Given the description of an element on the screen output the (x, y) to click on. 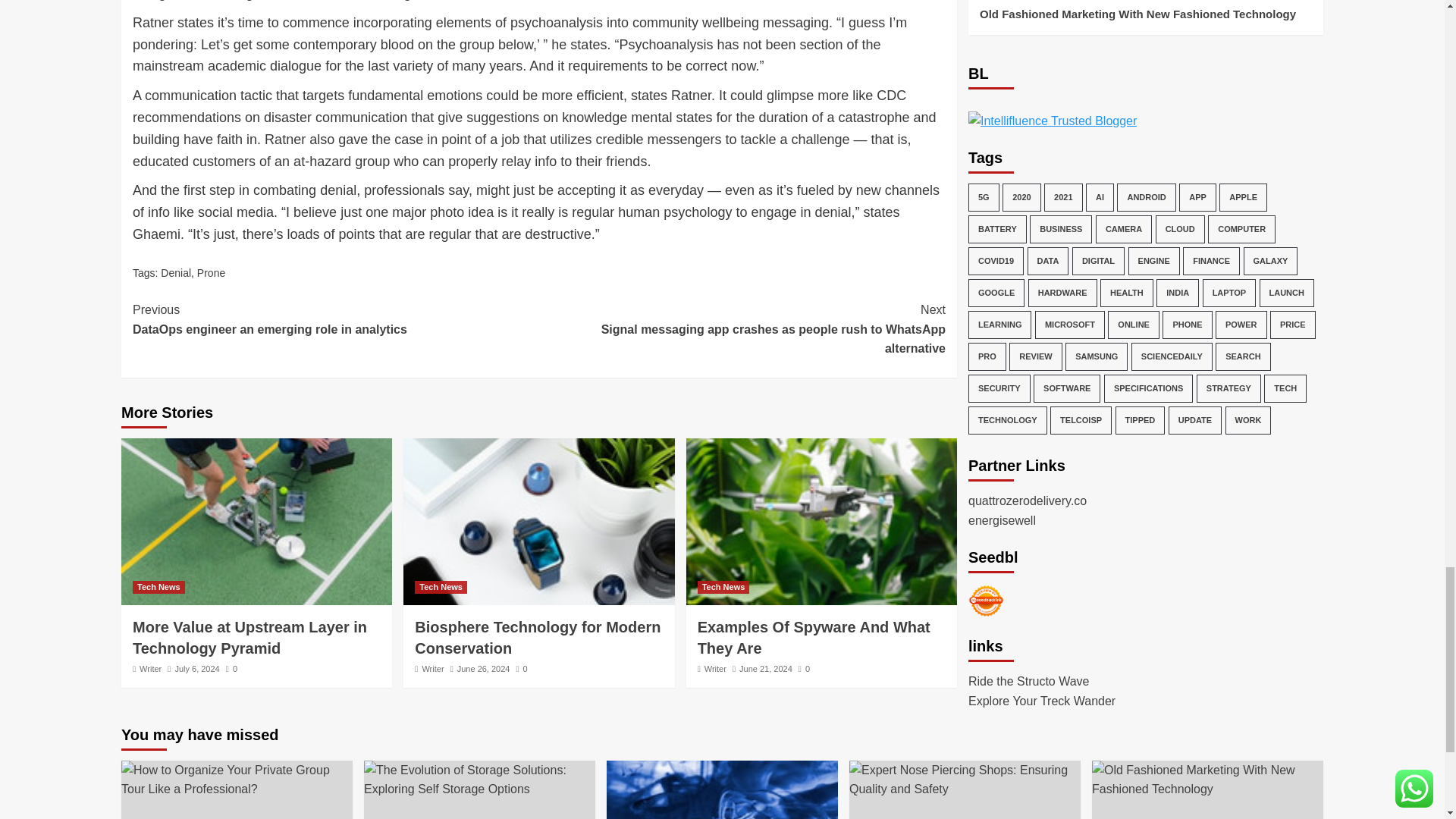
More Value at Upstream Layer in Technology Pyramid (249, 637)
Writer (150, 668)
Examples Of Spyware And What They Are (820, 521)
Denial (175, 272)
Prone (210, 272)
More Value at Upstream Layer in Technology Pyramid (255, 521)
0 (231, 668)
Biosphere Technology for Modern Conservation (538, 521)
July 6, 2024 (196, 668)
